Given the description of an element on the screen output the (x, y) to click on. 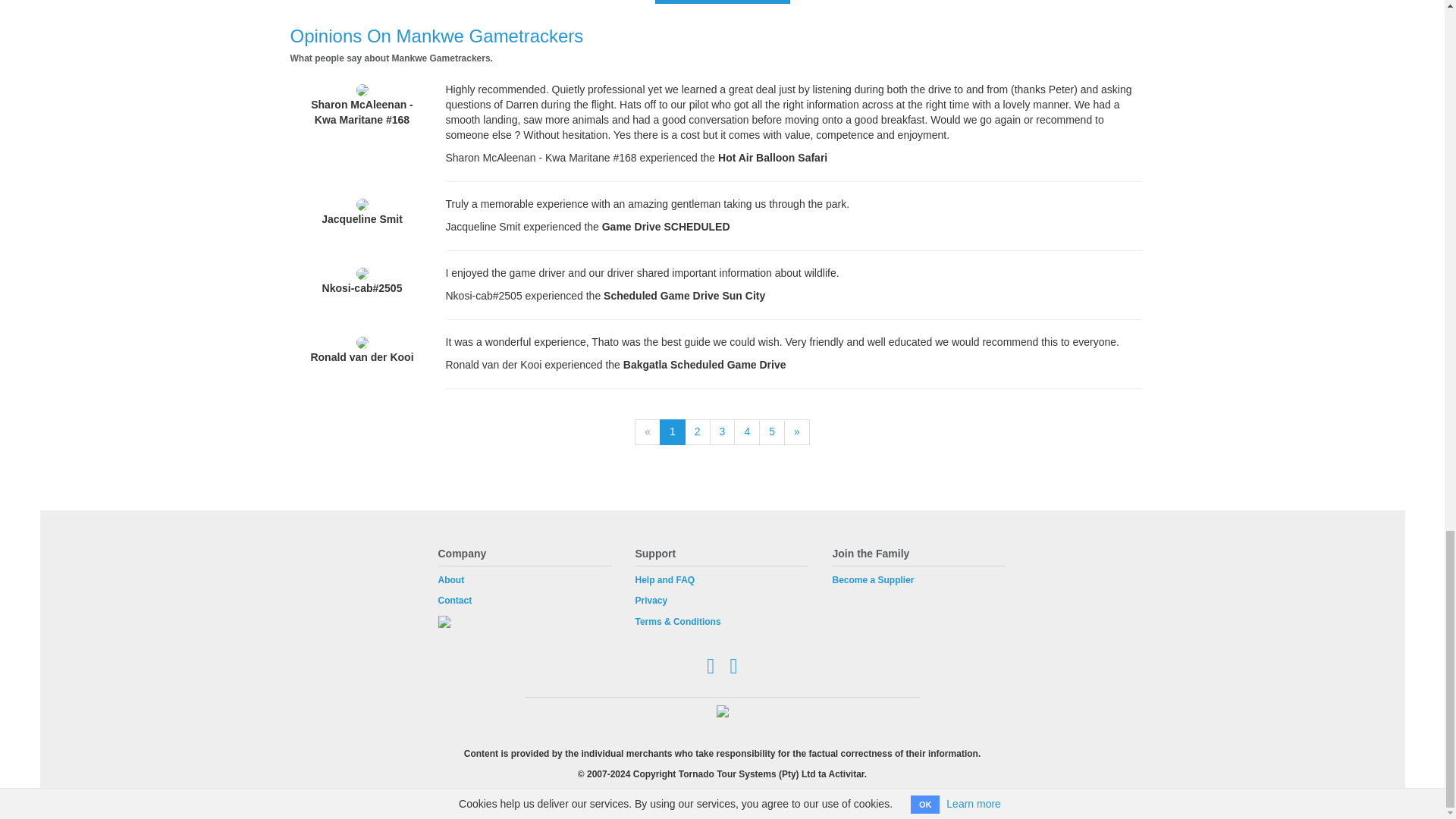
Bakgatla Scheduled Game Drive (704, 364)
Hot Air Balloon Safari (772, 157)
Scheduled Game Drive Sun City (684, 295)
More Things To Do Here (722, 2)
Game Drive SCHEDULED (666, 226)
1 (672, 432)
